Given the description of an element on the screen output the (x, y) to click on. 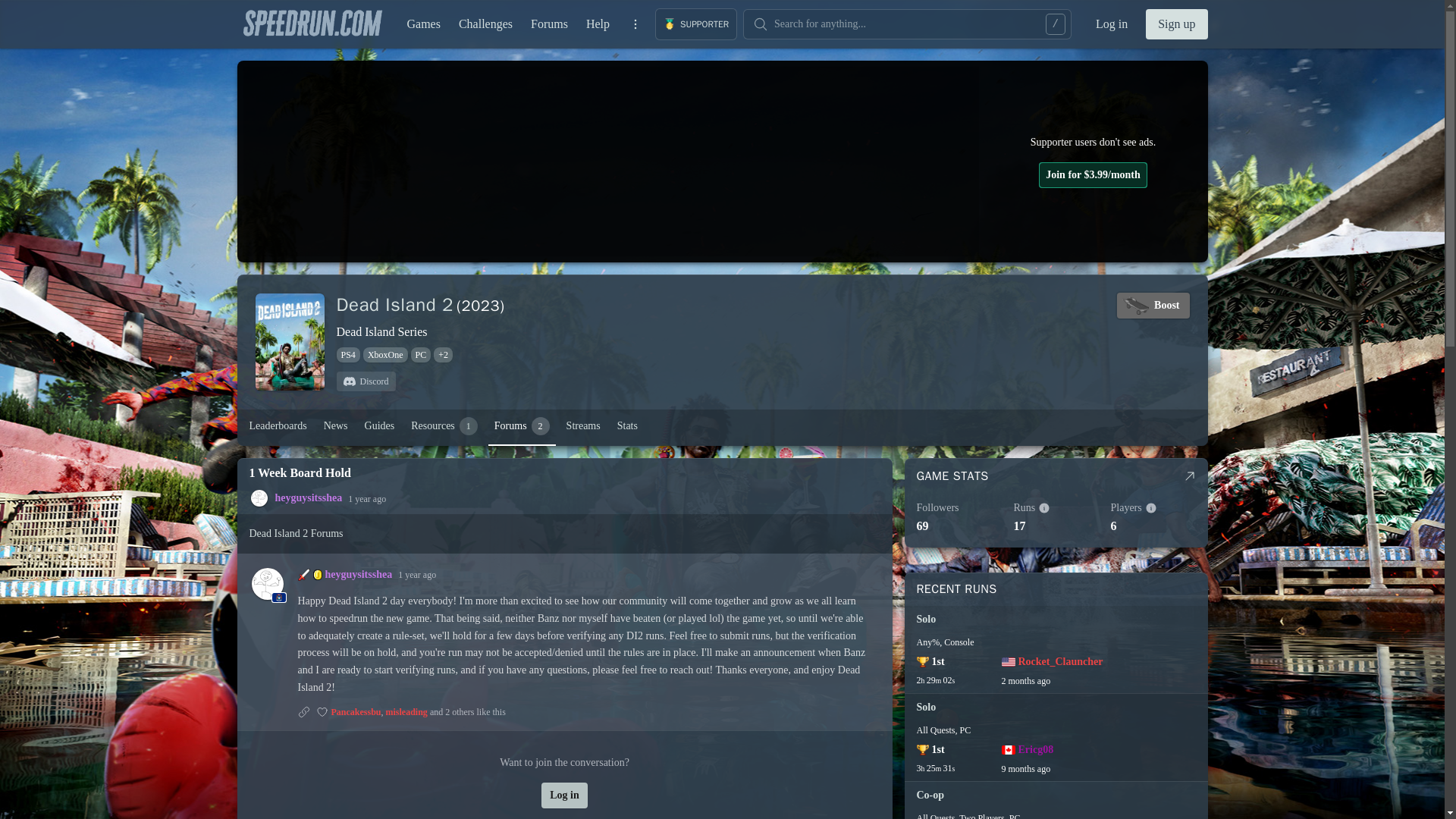
Log in (1111, 24)
Sign up (1176, 24)
News (335, 426)
Forums (548, 24)
PC (420, 354)
Streams (583, 426)
Leaderboards (278, 426)
SUPPORTER (695, 24)
Boost (1152, 305)
Dead Island Series (382, 331)
PS4 (521, 426)
More... (347, 354)
XboxOne (635, 24)
